Given the description of an element on the screen output the (x, y) to click on. 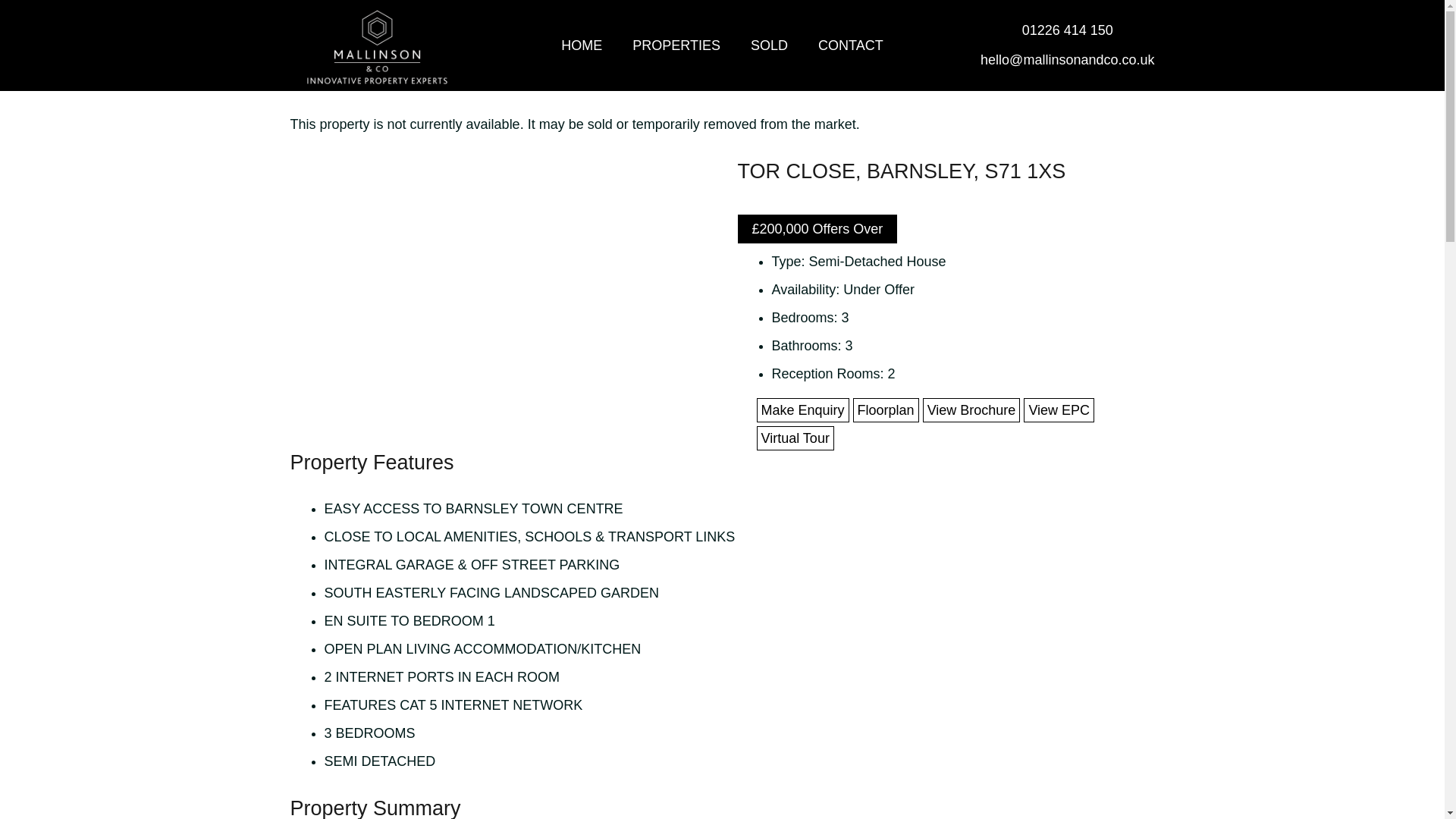
PROPERTIES (676, 45)
Virtual Tour (795, 437)
View EPC (1058, 410)
Make Enquiry (802, 410)
View Brochure (971, 410)
Floorplan (885, 410)
01226 414 150 (1067, 29)
CONTACT (850, 45)
